Given the description of an element on the screen output the (x, y) to click on. 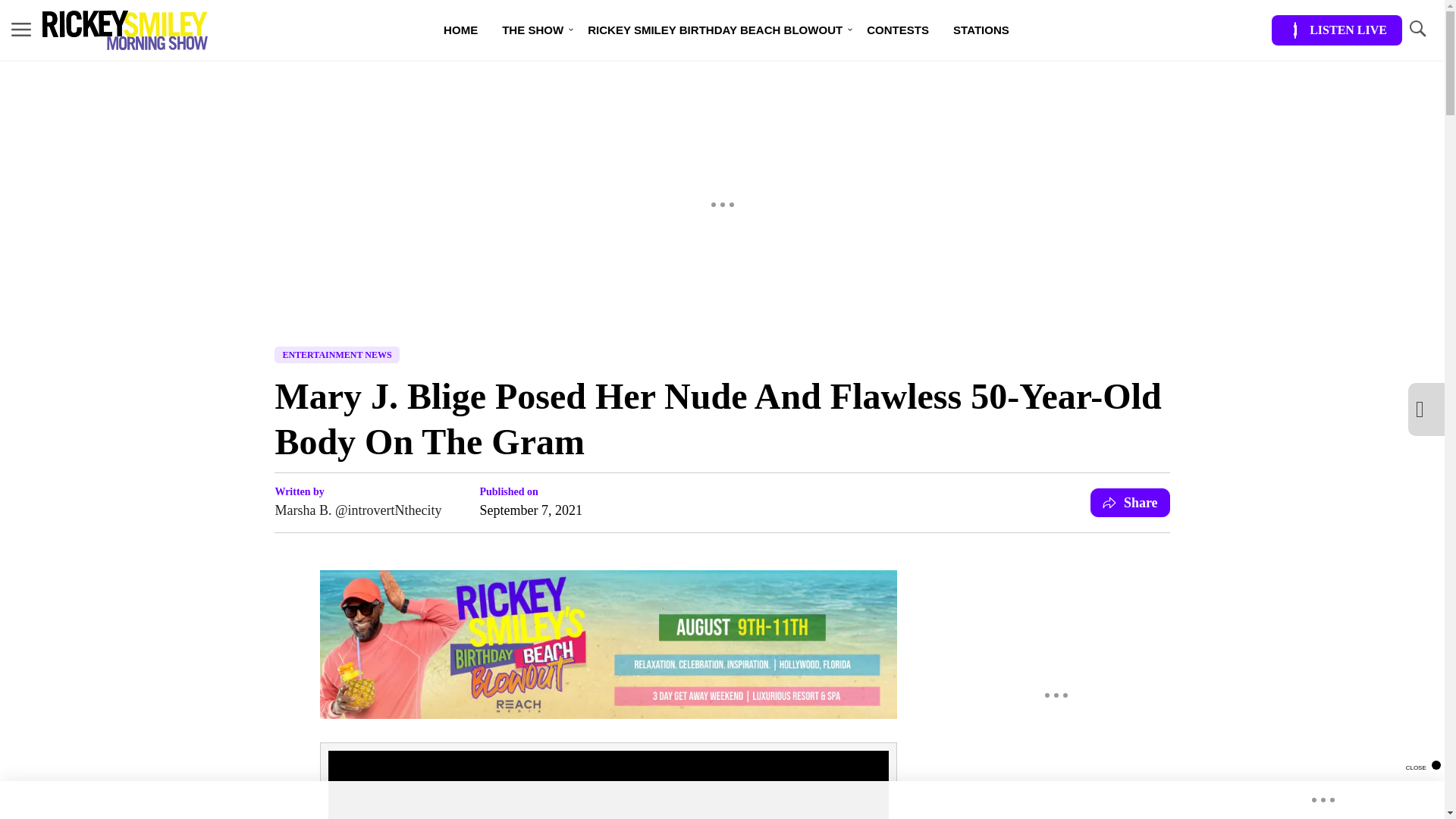
Share (1130, 502)
LISTEN LIVE (1336, 30)
TOGGLE SEARCH (1417, 30)
HOME (459, 30)
ENTERTAINMENT NEWS (336, 354)
RICKEY SMILEY BIRTHDAY BEACH BLOWOUT (714, 30)
MENU (20, 29)
STATIONS (981, 30)
Stations (981, 30)
TOGGLE SEARCH (1417, 28)
MENU (20, 30)
THE SHOW (532, 30)
CONTESTS (897, 30)
